Given the description of an element on the screen output the (x, y) to click on. 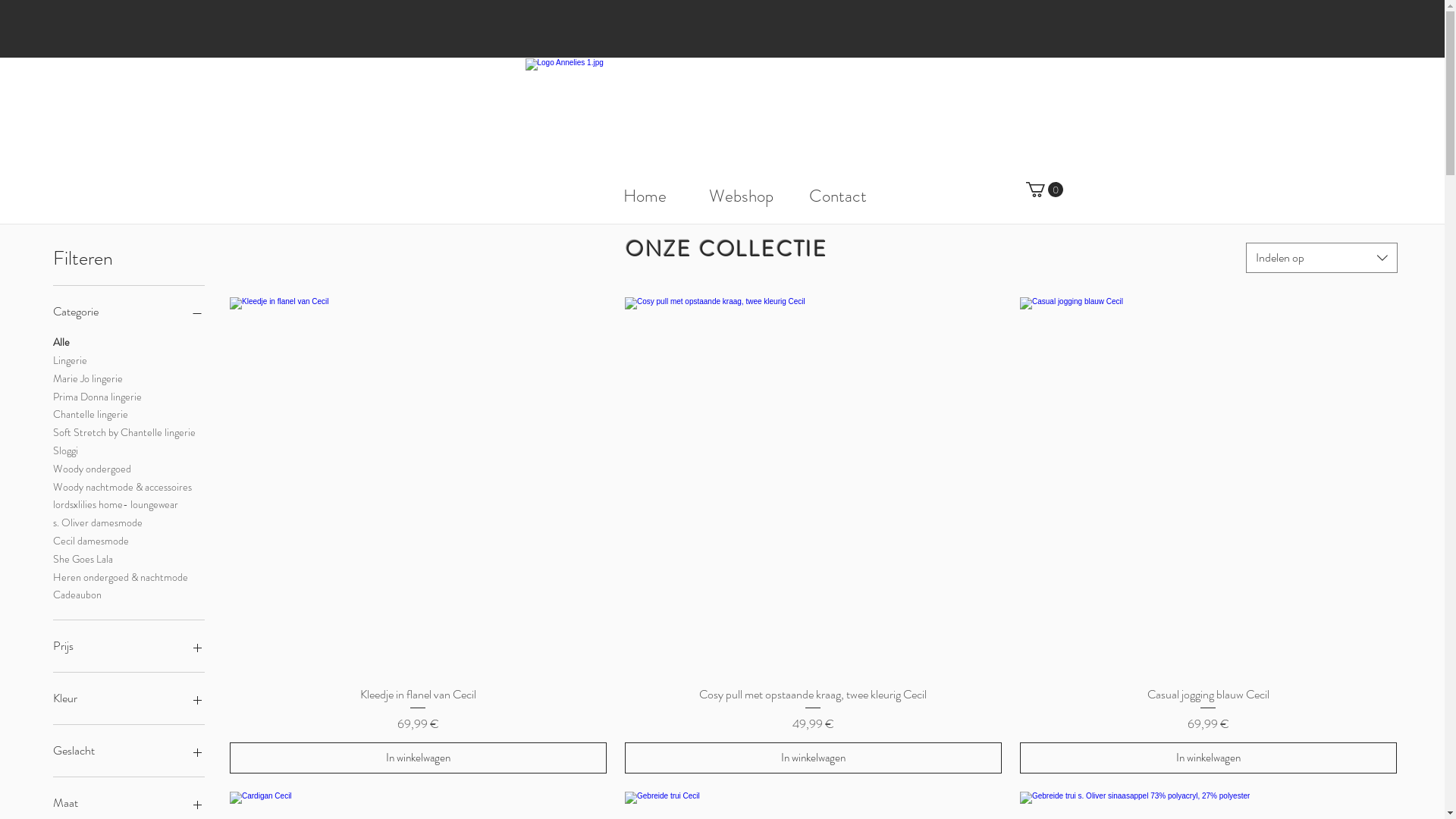
Categorie Element type: text (128, 311)
Prijs Element type: text (128, 645)
Webshop Element type: text (741, 195)
Geslacht Element type: text (128, 750)
Home Element type: text (644, 195)
In winkelwagen Element type: text (1207, 757)
In winkelwagen Element type: text (812, 757)
Kleur Element type: text (128, 698)
In winkelwagen Element type: text (417, 757)
Contact Element type: text (837, 195)
0 Element type: text (1043, 189)
Indelen op Element type: text (1321, 257)
Maat Element type: text (128, 802)
